Given the description of an element on the screen output the (x, y) to click on. 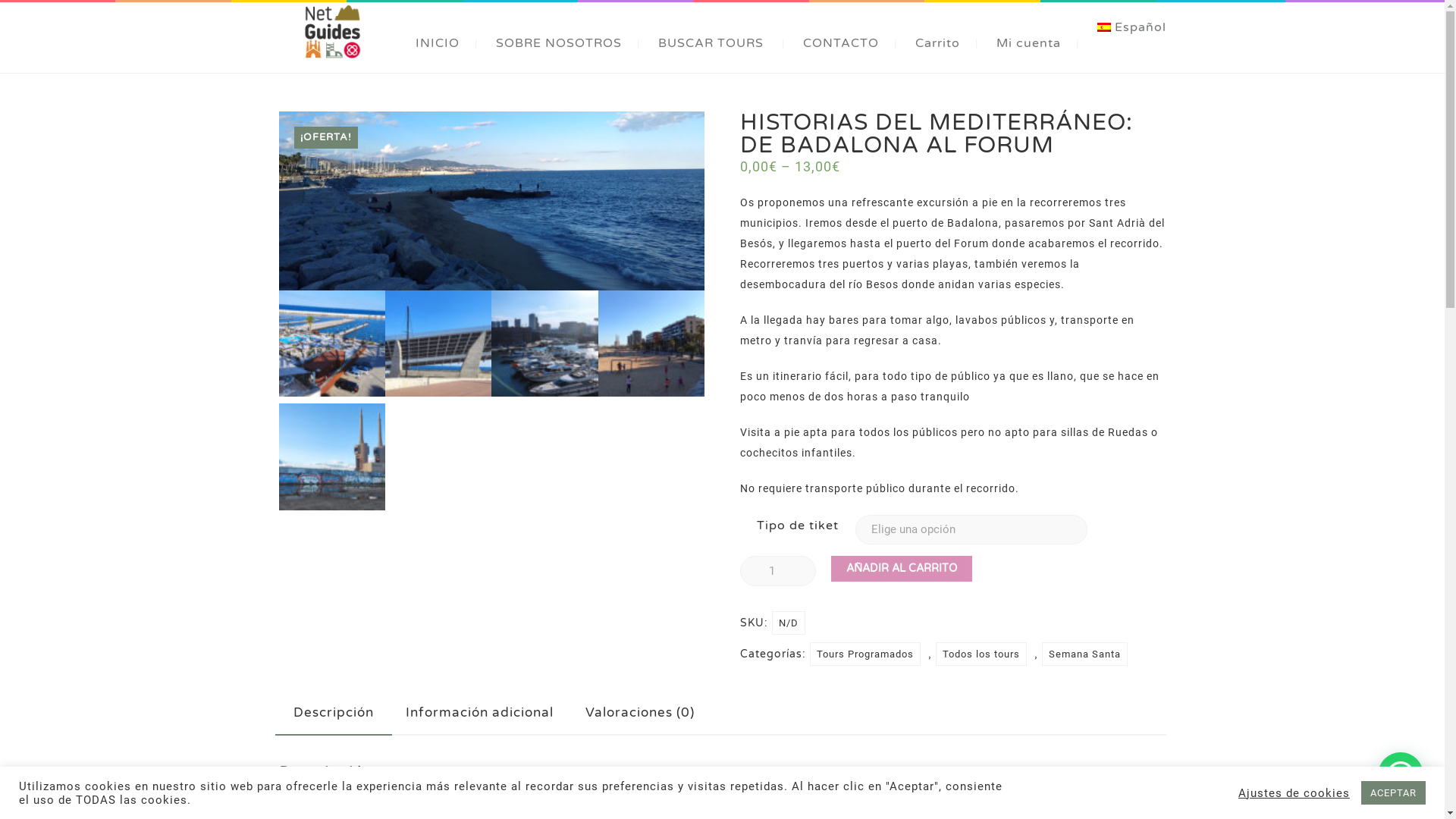
Valoraciones (0) Element type: text (639, 712)
INICIO Element type: text (437, 42)
badalona-forum-2 Element type: hover (651, 343)
Cantidad Element type: hover (777, 570)
Tours Programados Element type: text (864, 653)
ACEPTAR Element type: text (1393, 792)
badalona-forum-1 Element type: hover (332, 456)
SOBRE NOSOTROS Element type: text (558, 42)
badalona-forum-5 Element type: hover (332, 343)
Mi cuenta Element type: text (1028, 42)
badalona-forum-3 Element type: hover (544, 343)
Semana Santa Element type: text (1084, 653)
badalona-forum-4 Element type: hover (438, 343)
badalona-forum-6 Element type: hover (492, 200)
Carrito Element type: text (937, 42)
CONTACTO Element type: text (840, 42)
Ajustes de cookies Element type: text (1293, 792)
BUSCAR TOURS Element type: text (710, 42)
Todos los tours Element type: text (980, 653)
